Given the description of an element on the screen output the (x, y) to click on. 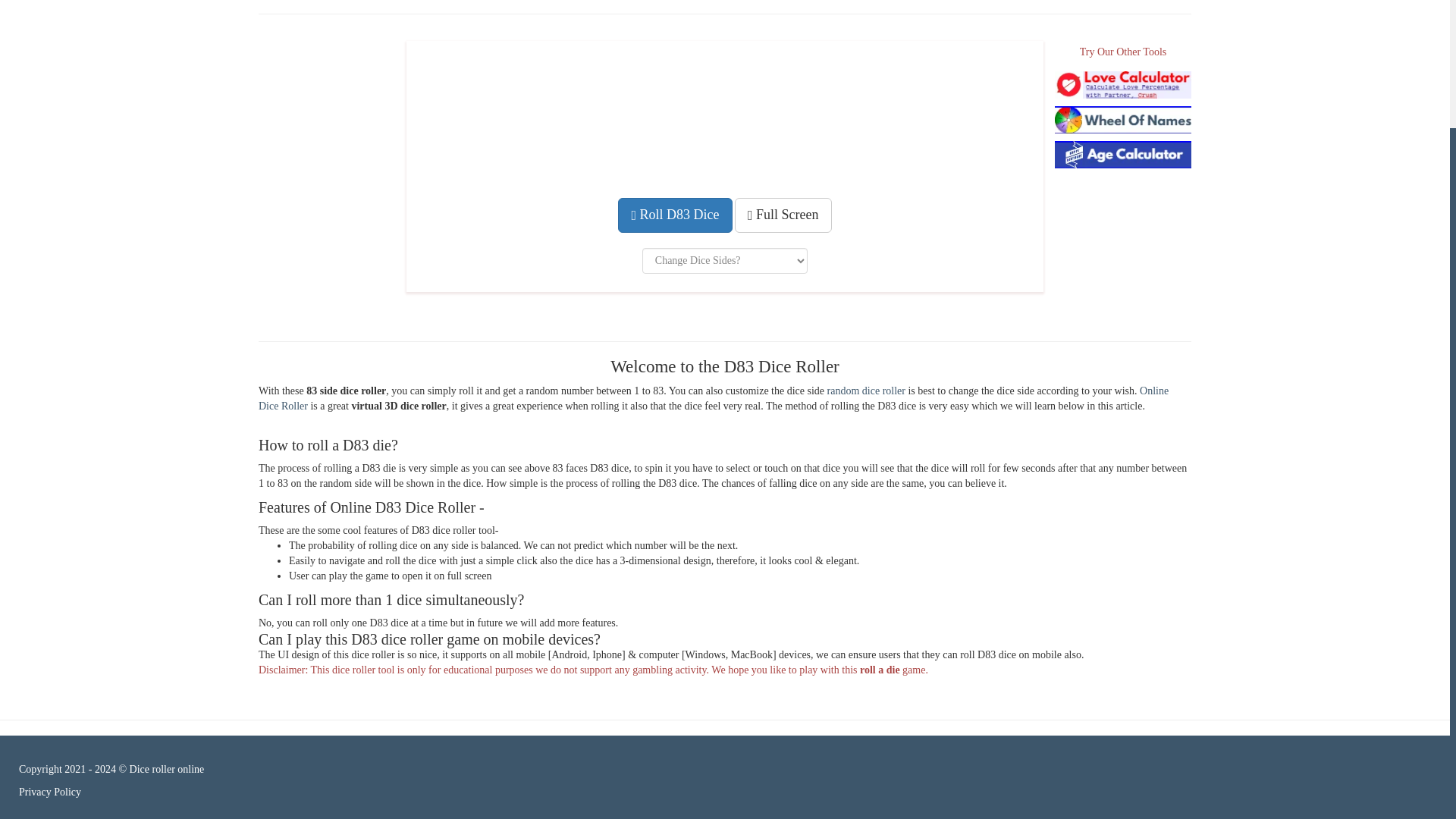
Random Dice Roller (866, 390)
random dice roller (866, 390)
Dice roller online (167, 768)
Online Dice Roller (714, 397)
Privacy Policy (49, 791)
Roll D83 Dice (674, 215)
Full Screen (783, 215)
